Given the description of an element on the screen output the (x, y) to click on. 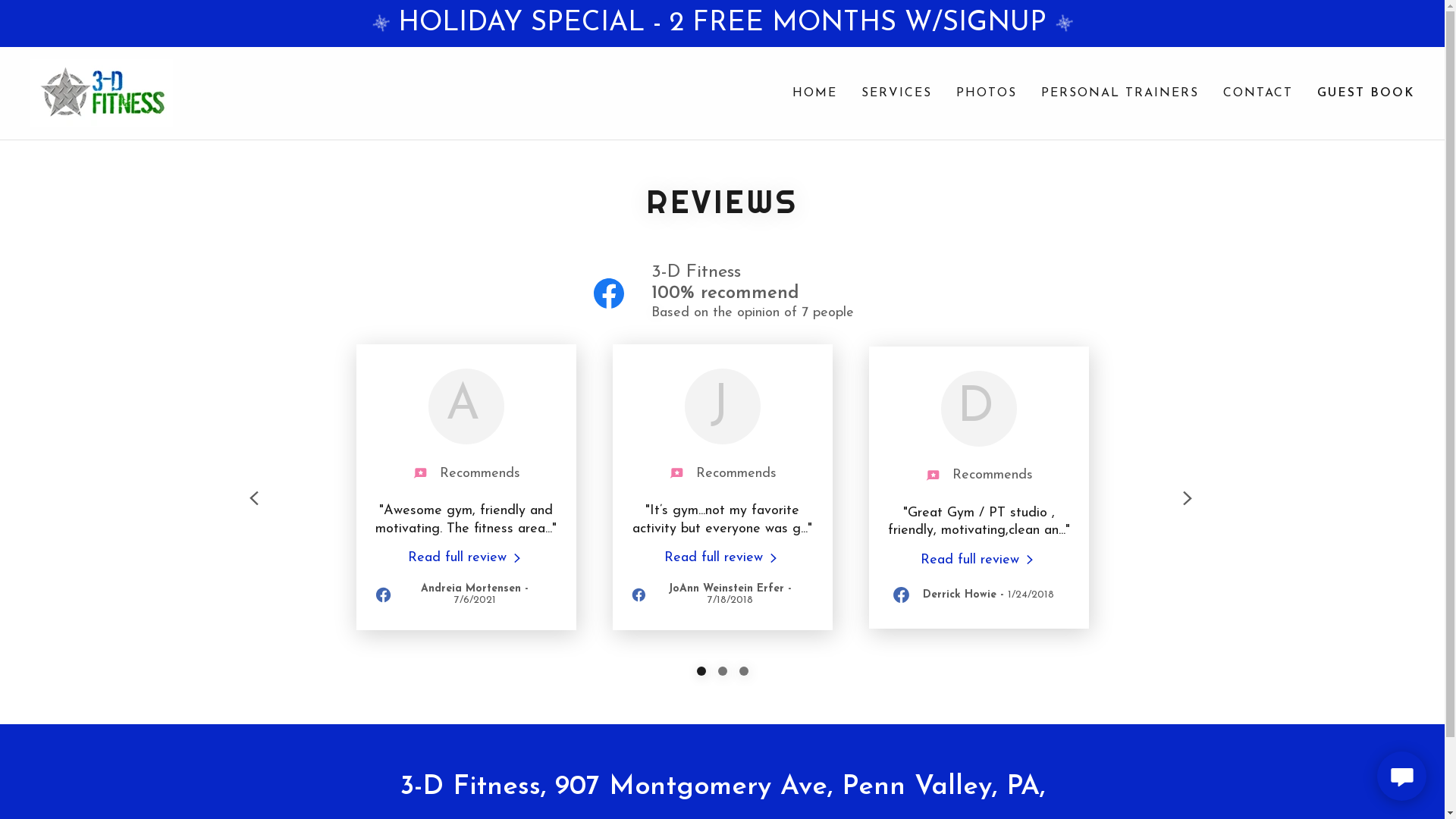
GUEST BOOK Element type: text (1365, 93)
HOME Element type: text (814, 92)
3-dfitness.com Element type: hover (101, 91)
PHOTOS Element type: text (986, 92)
Read full review Element type: text (978, 559)
CONTACT Element type: text (1257, 92)
SERVICES Element type: text (896, 92)
3-D Fitness
100% recommend
Based on the opinion of 7 people Element type: text (721, 291)
Read full review Element type: text (465, 556)
Read full review Element type: text (722, 556)
PERSONAL TRAINERS Element type: text (1119, 92)
